Given the description of an element on the screen output the (x, y) to click on. 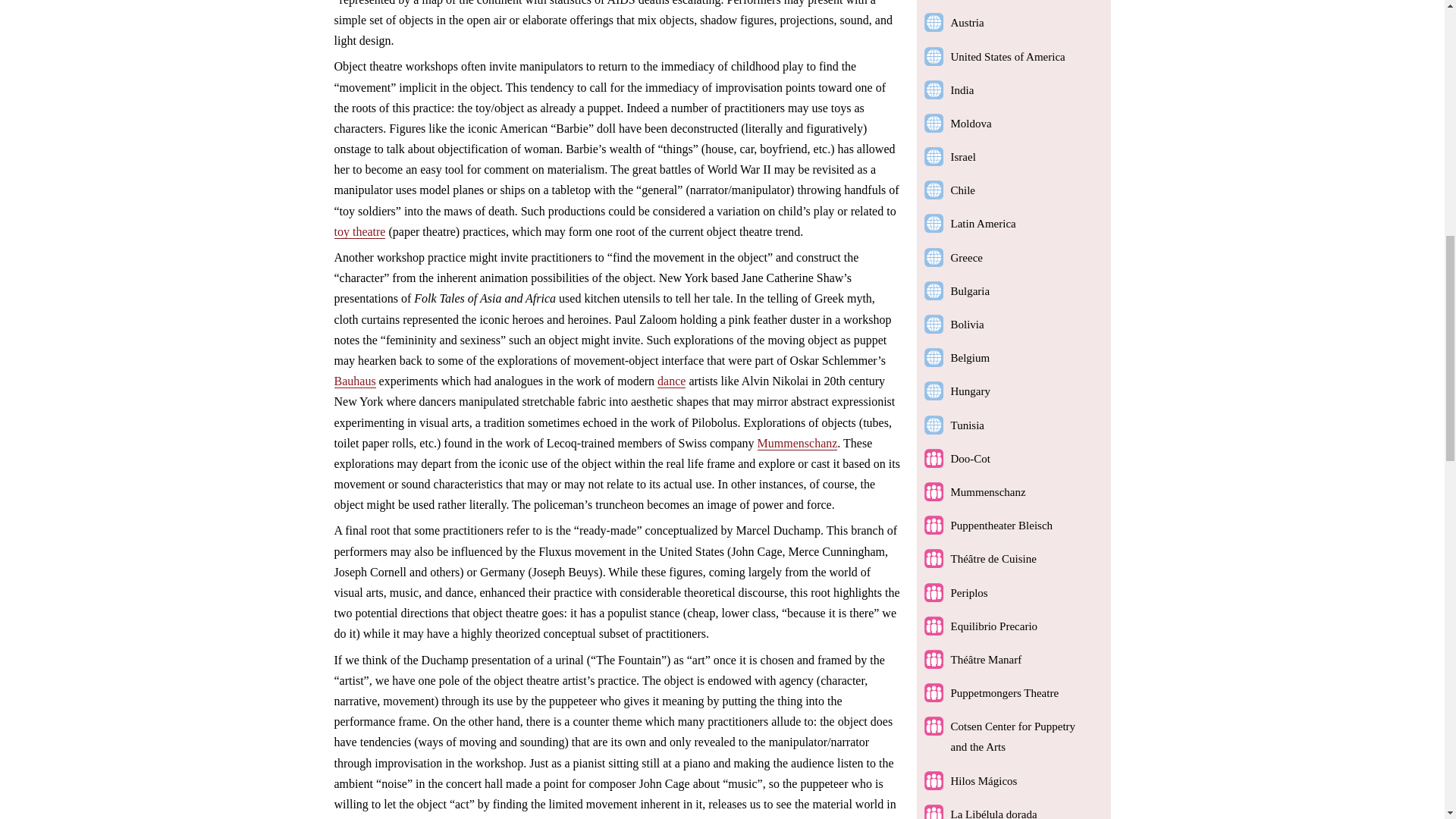
Latin America (983, 223)
Austria (967, 22)
Chile (962, 190)
Moldova (970, 123)
Bolivia (967, 324)
Israel (962, 156)
View article Toy Theatre (359, 231)
View article Bauhaus (354, 380)
India (962, 90)
United States of America (1007, 55)
View article Dance (671, 380)
Bulgaria (970, 291)
View article Mummenschanz (797, 442)
Greece (966, 257)
